Given the description of an element on the screen output the (x, y) to click on. 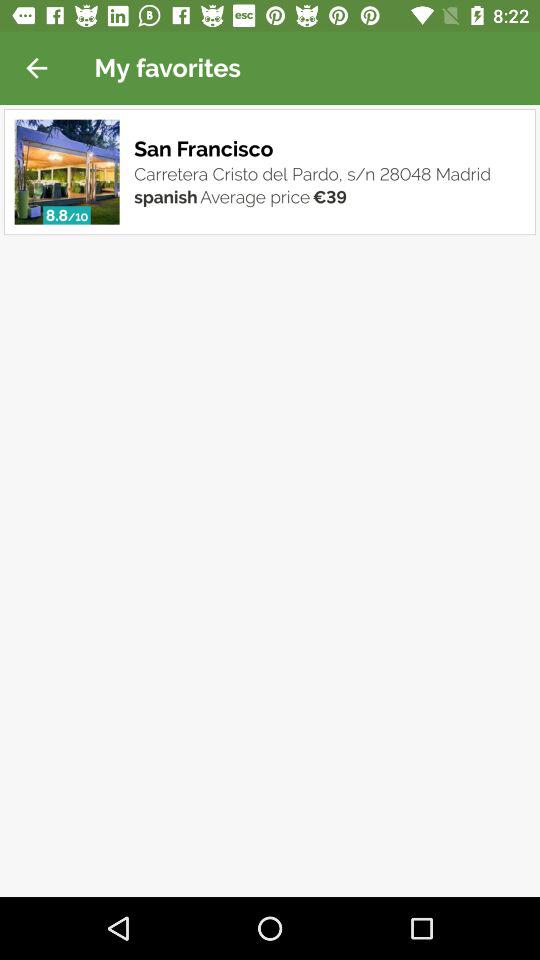
select the item next to spanish (77, 217)
